Given the description of an element on the screen output the (x, y) to click on. 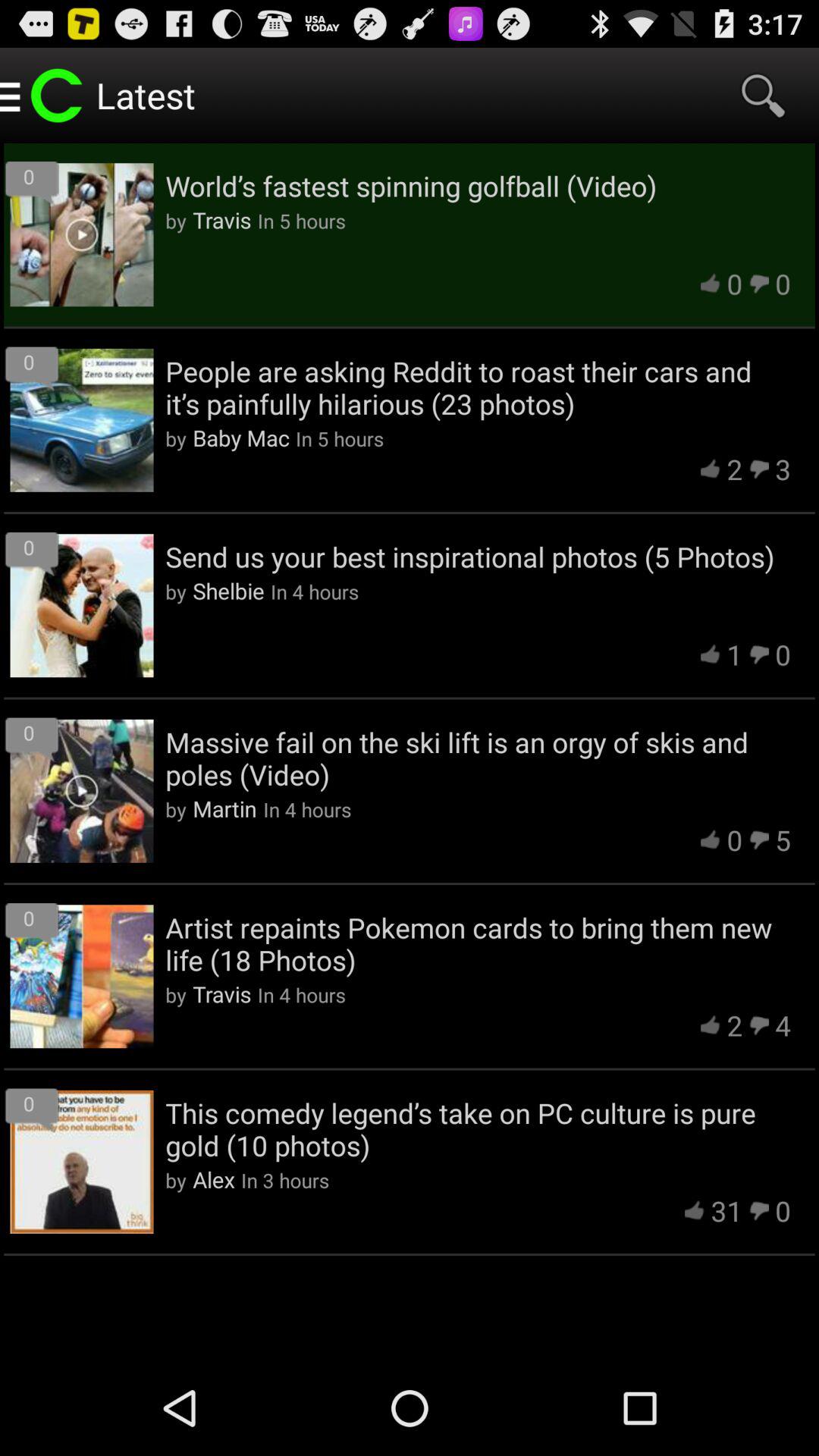
open app to the left of in 5 hours app (240, 437)
